Given the description of an element on the screen output the (x, y) to click on. 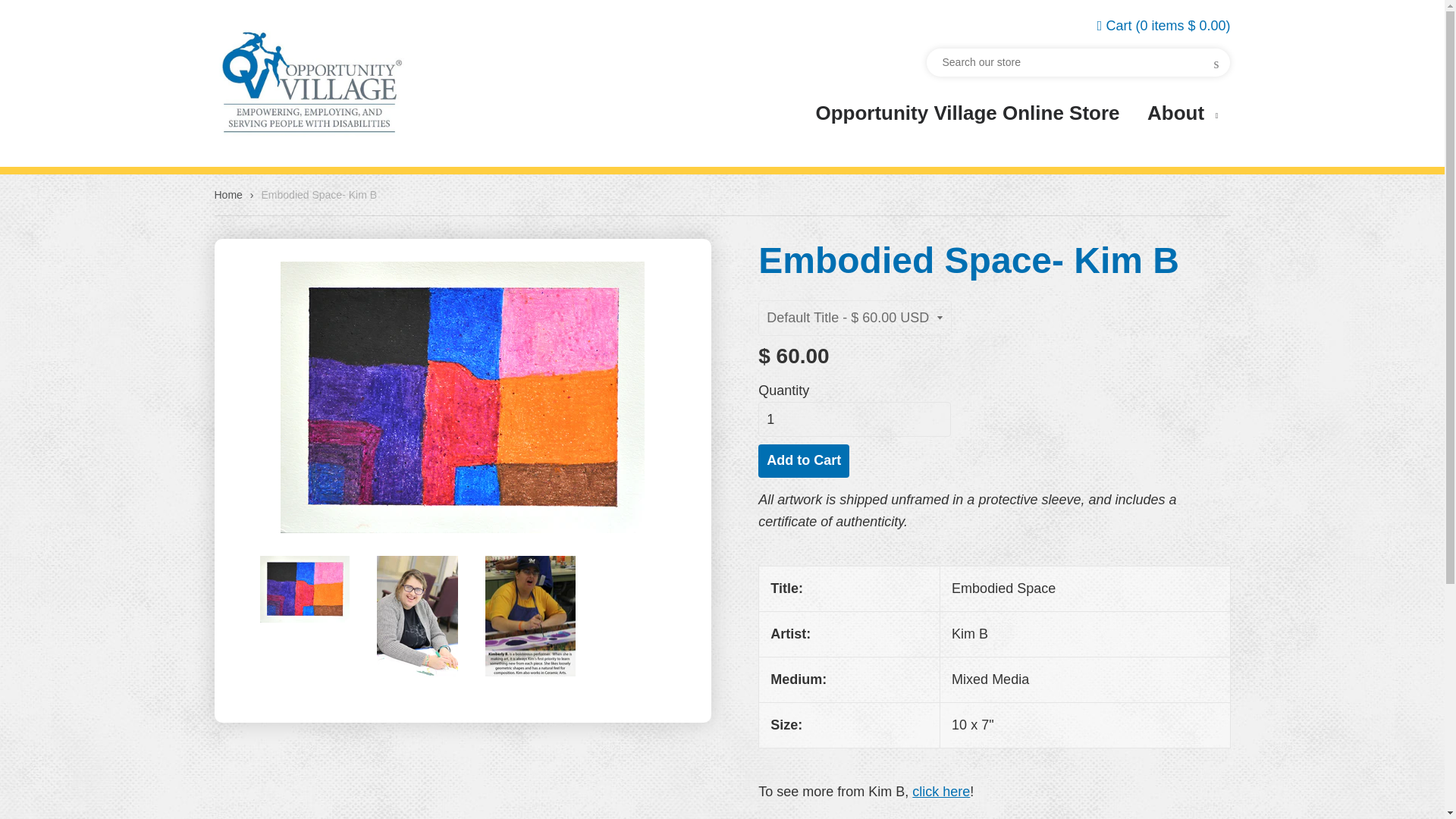
Home (231, 194)
1 (854, 419)
click here (940, 791)
Add to Cart (803, 460)
About (1182, 113)
Back to the home page (231, 194)
Opportunity Village Online Store (967, 111)
